Given the description of an element on the screen output the (x, y) to click on. 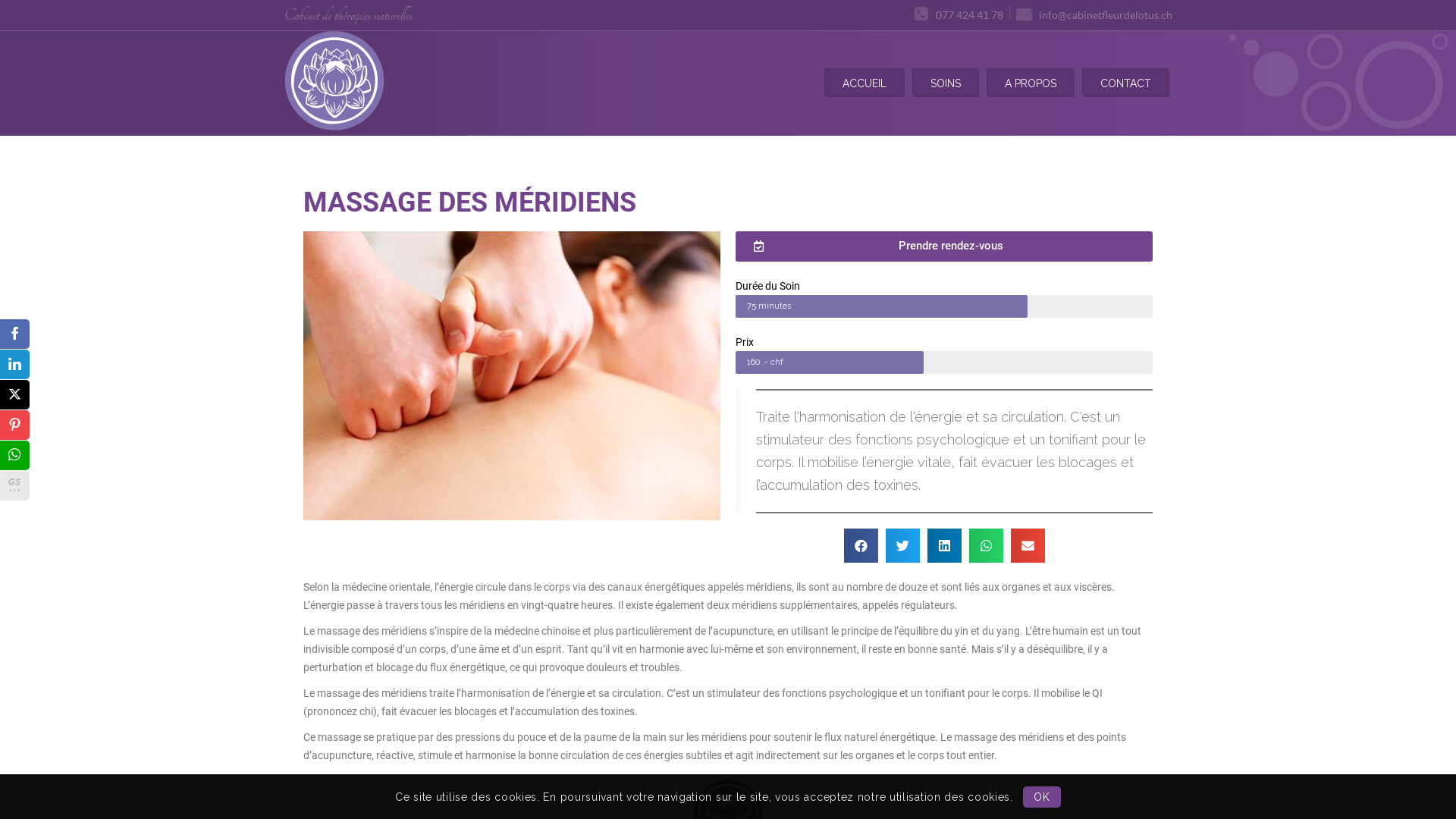
077 424 41 78 Element type: text (958, 14)
Prendre rendez-vous Element type: text (943, 246)
SOINS Element type: text (945, 82)
ACCUEIL Element type: text (864, 82)
A PROPOS Element type: text (1030, 82)
OK Element type: text (1041, 796)
CONTACT Element type: text (1125, 82)
info@cabinetfleurdelotus.ch Element type: text (1094, 14)
